Given the description of an element on the screen output the (x, y) to click on. 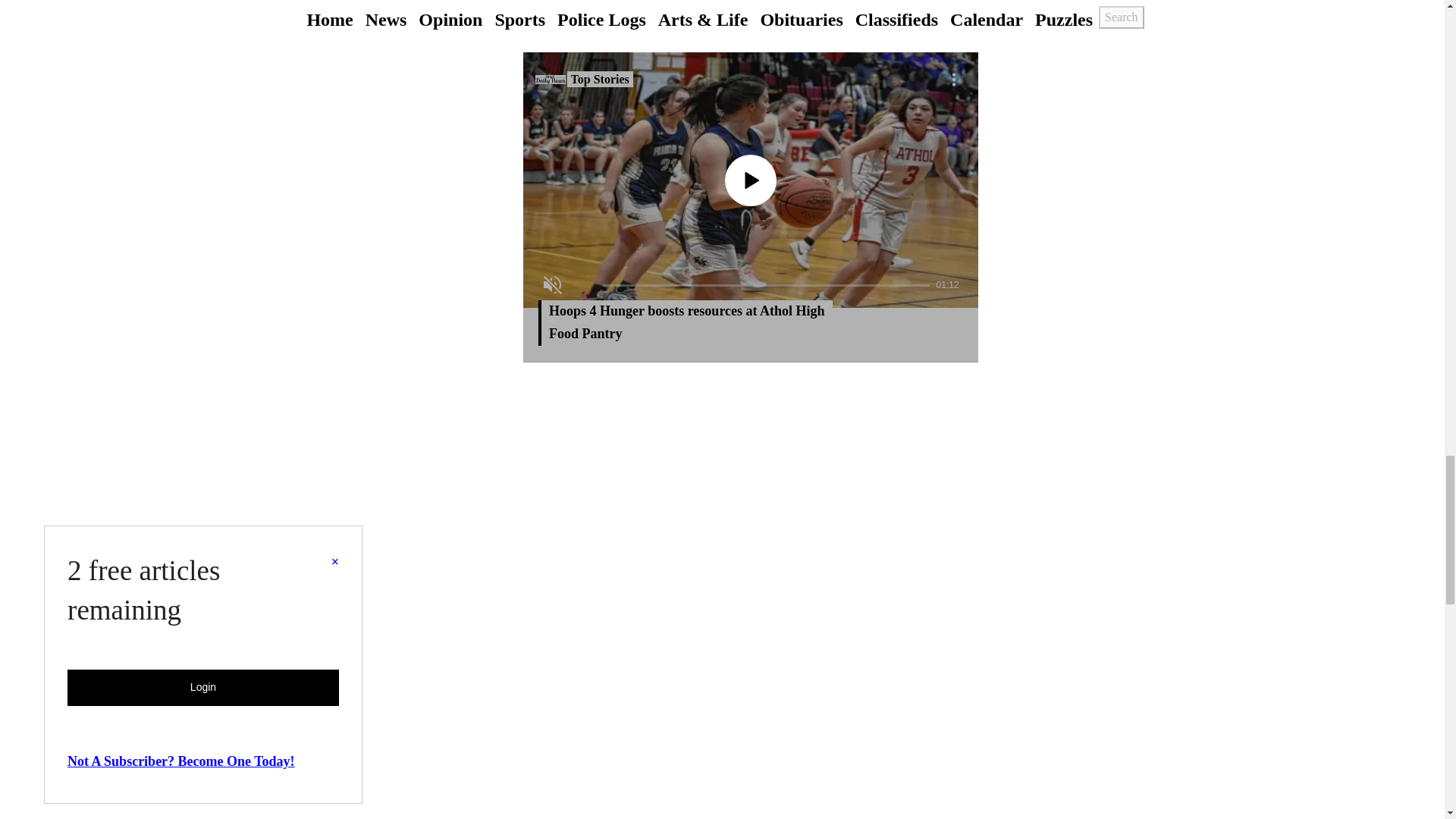
Share on Facebook (586, 12)
Share on Twitter (750, 1)
Share via E-Mail (914, 1)
